Given the description of an element on the screen output the (x, y) to click on. 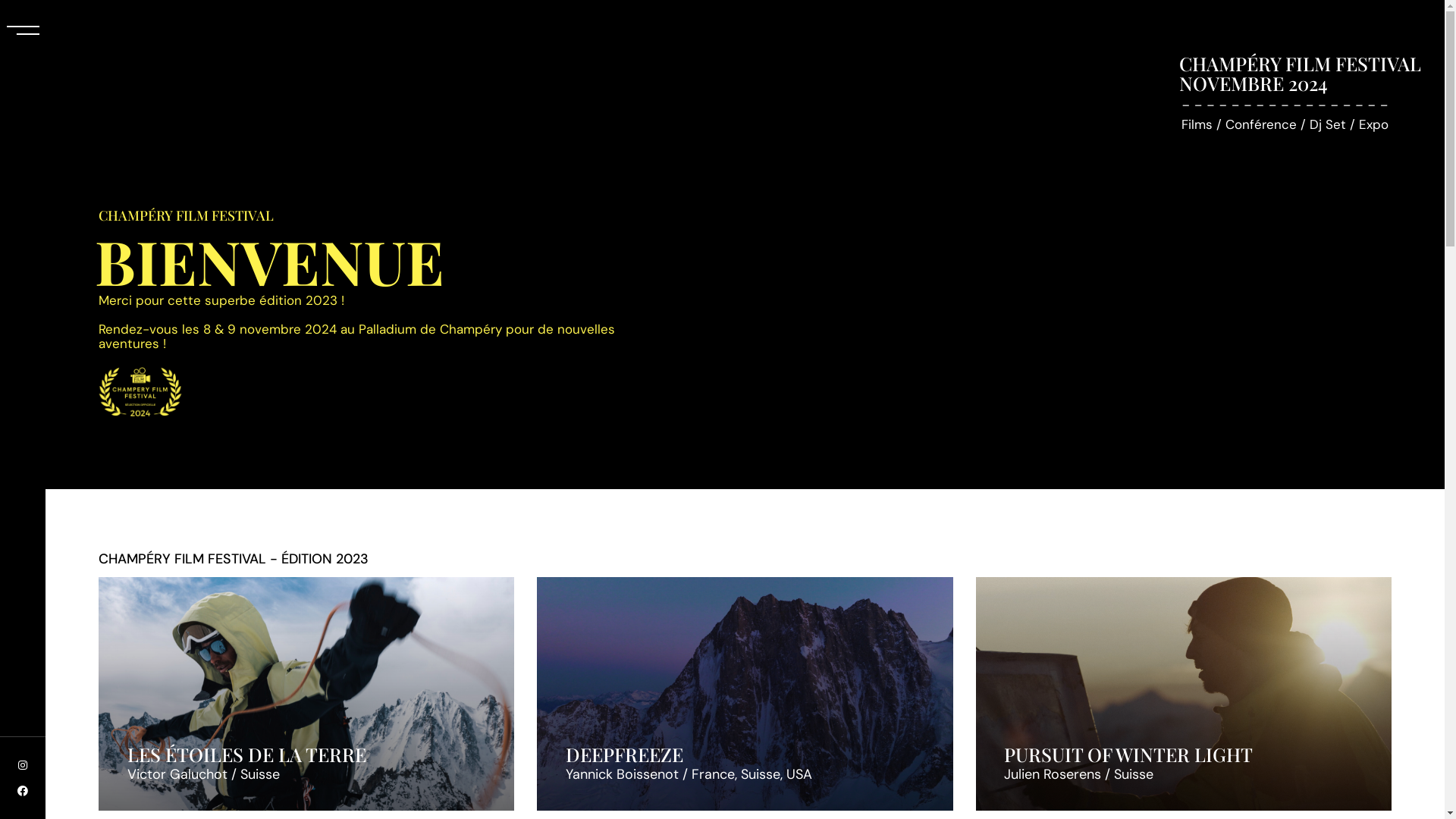
USA Element type: text (799, 774)
Yannick Boissenot Element type: text (621, 774)
Suisse Element type: text (1133, 774)
France Element type: text (712, 774)
PURSUIT OF WINTER LIGHT Element type: text (1128, 753)
Suisse Element type: text (760, 774)
Victor Galuchot Element type: text (177, 774)
Julien Roserens Element type: text (1052, 774)
DEEPFREEZE Element type: text (624, 753)
Suisse Element type: text (259, 774)
